Given the description of an element on the screen output the (x, y) to click on. 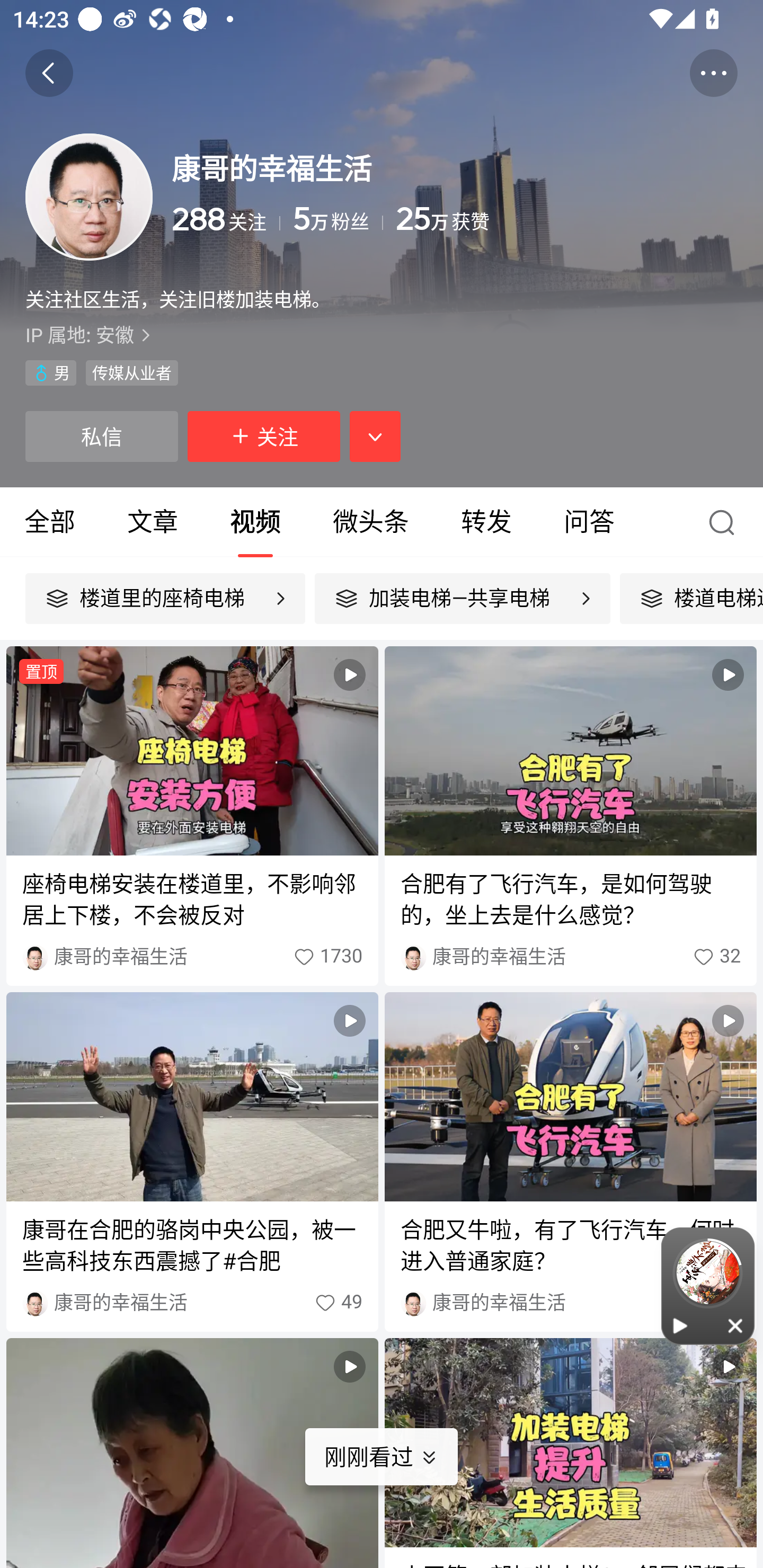
返回 (49, 72)
更多操作 (713, 72)
头像 (88, 196)
288 关注 (225, 219)
5万 粉丝 (337, 219)
25万 获赞 (566, 219)
IP 属地: 安徽 (381, 334)
性别男 男 (50, 372)
传媒从业者 (131, 372)
私信 (101, 436)
     关注 (263, 436)
展开相关推荐，按钮 (374, 436)
全部 (50, 521)
文章 (152, 521)
视频 (254, 521)
微头条 (370, 521)
转发 (485, 521)
问答 (588, 521)
搜索 (726, 521)
楼道里的座椅电梯 (165, 598)
加装电梯—共享电梯 (462, 598)
播放 关闭 (708, 1286)
播放 (680, 1325)
关闭 (736, 1325)
视频 (192, 1452)
视频 小区第一部加装电梯3：邻居们都来参观，体验带来的好处  (570, 1452)
刚刚看过 (393, 1456)
